Given the description of an element on the screen output the (x, y) to click on. 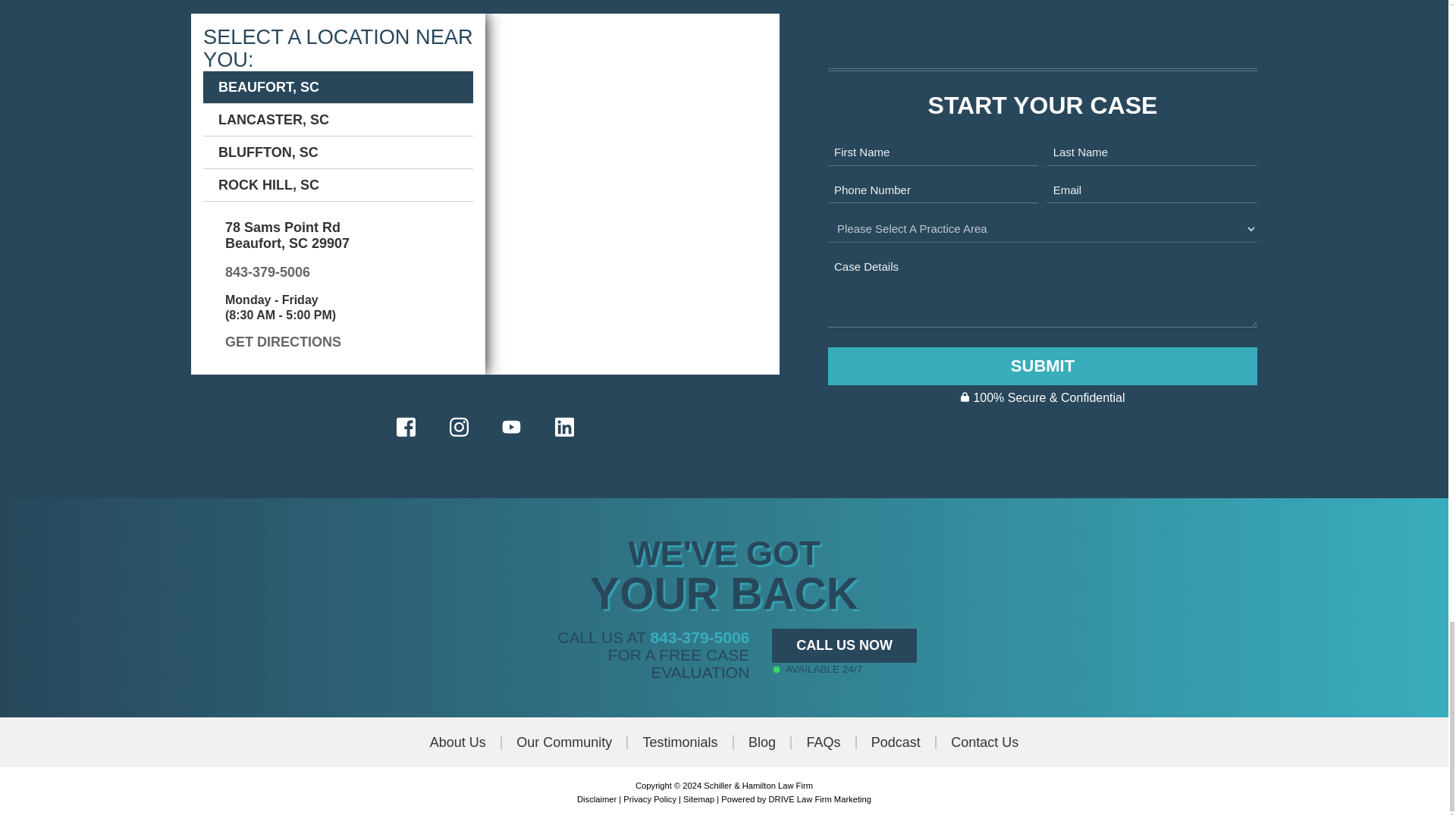
Facebook (406, 427)
Instagram (458, 427)
Youtube (510, 426)
LinkedIn (564, 427)
